Given the description of an element on the screen output the (x, y) to click on. 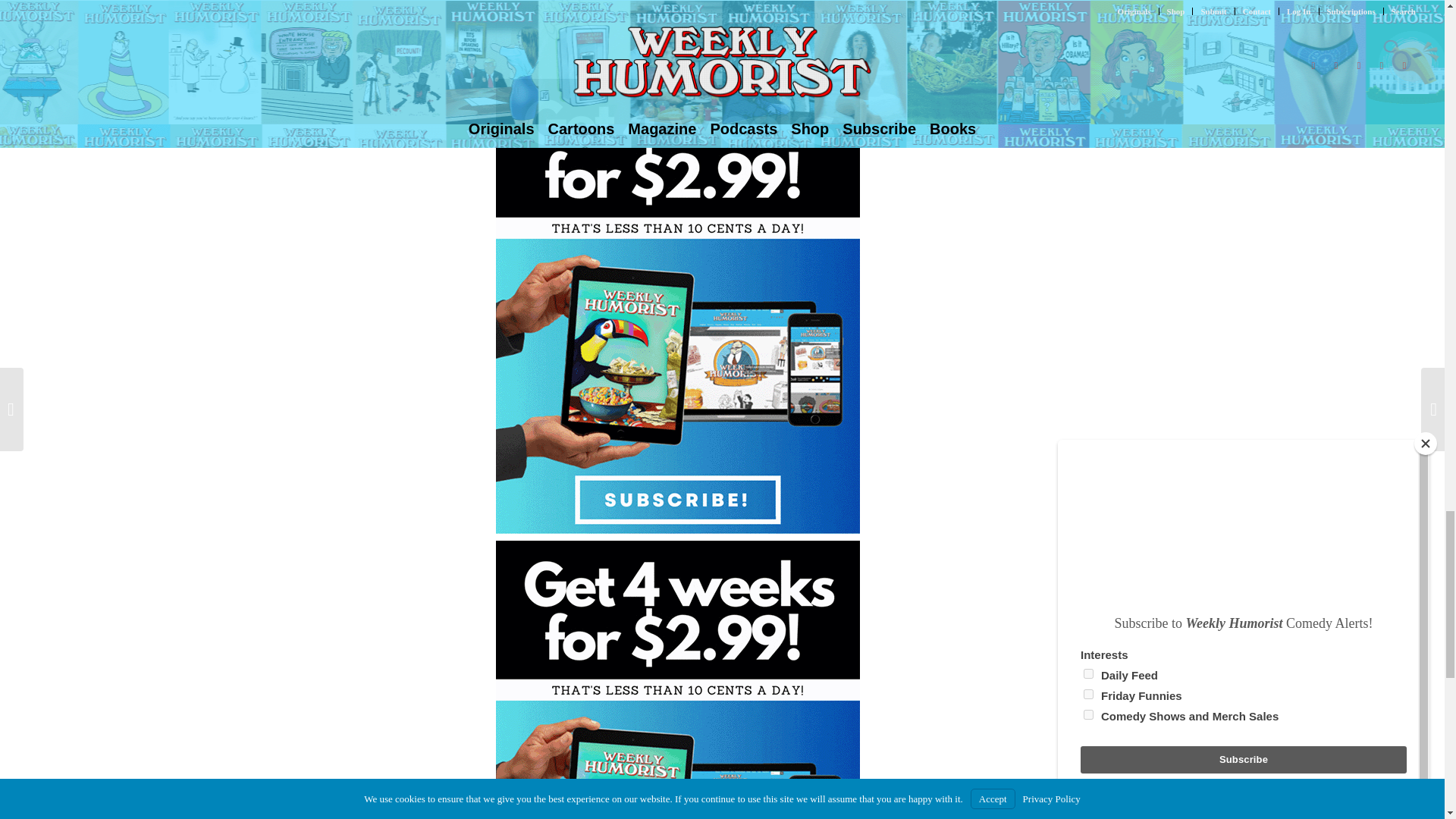
Reese Cassard (665, 0)
